Given the description of an element on the screen output the (x, y) to click on. 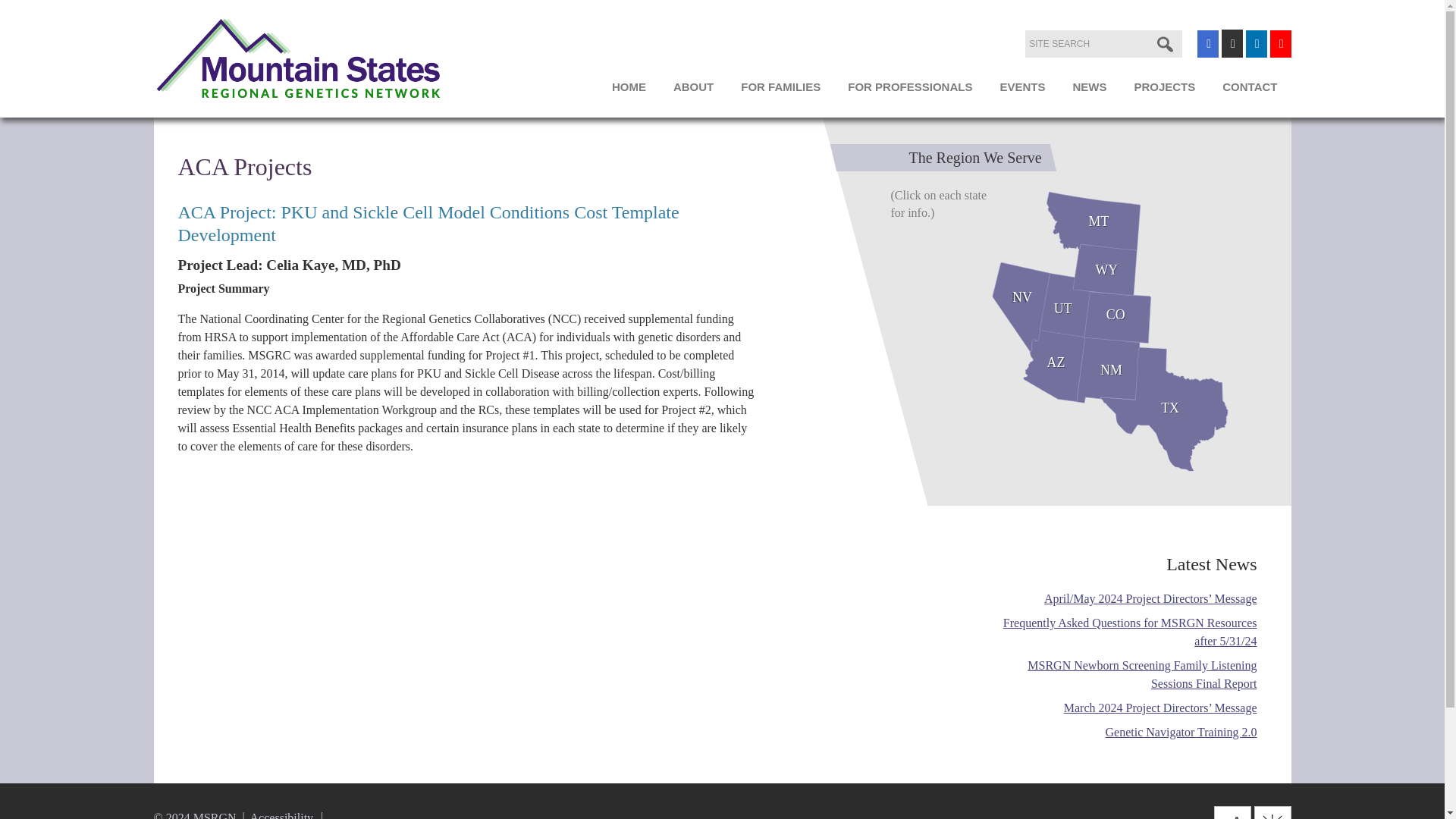
EVENTS (1021, 92)
ABOUT (692, 92)
HOME (628, 92)
FOR FAMILIES (780, 92)
NEWS (1088, 92)
PROJECTS (1163, 92)
Twitter (1232, 43)
FOR PROFESSIONALS (909, 92)
